Given the description of an element on the screen output the (x, y) to click on. 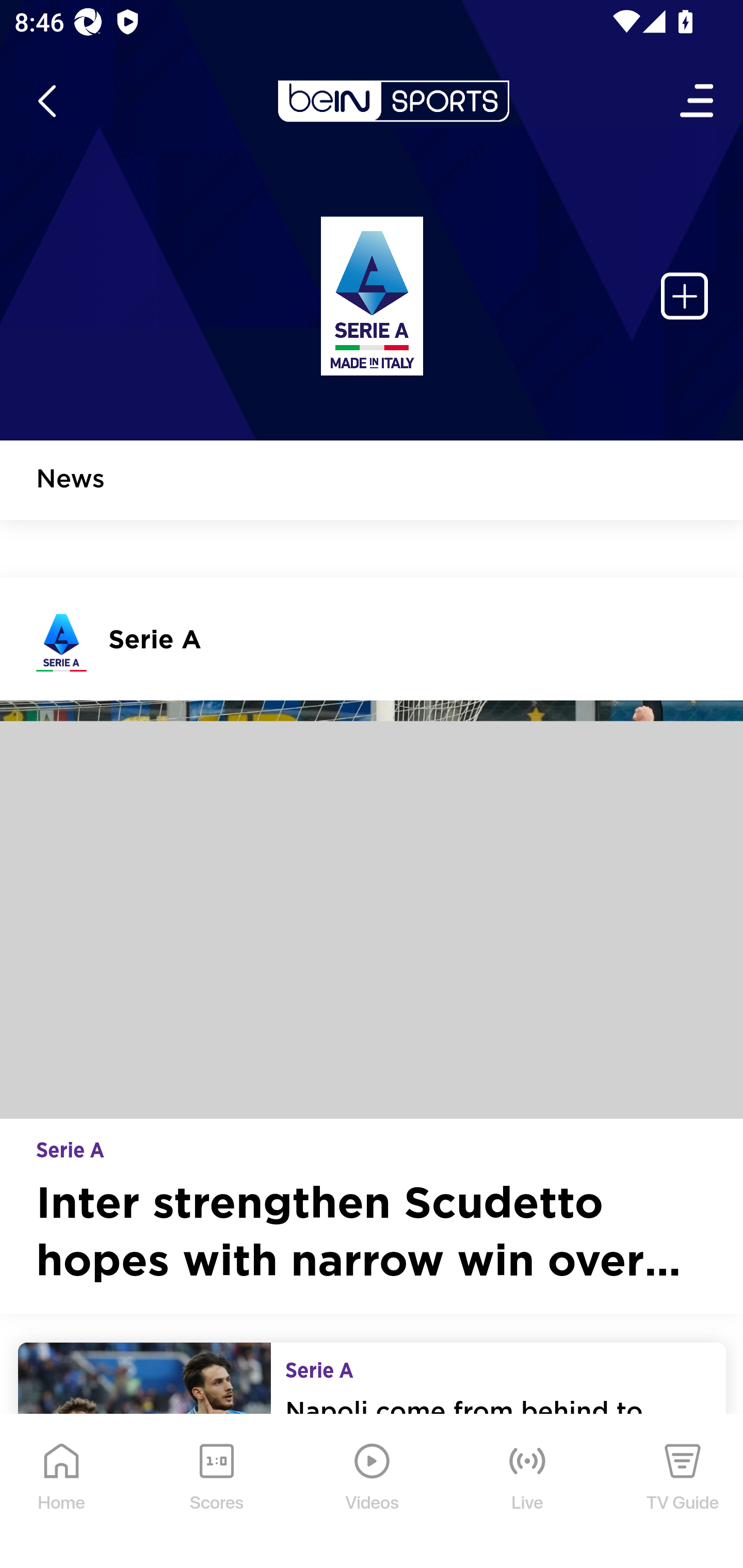
en-my?platform=mobile_android bein logo white (392, 101)
icon back (46, 101)
Open Menu Icon (697, 101)
News (70, 480)
Home Home Icon Home (61, 1491)
Scores Scores Icon Scores (216, 1491)
Videos Videos Icon Videos (372, 1491)
TV Guide TV Guide Icon TV Guide (682, 1491)
